Given the description of an element on the screen output the (x, y) to click on. 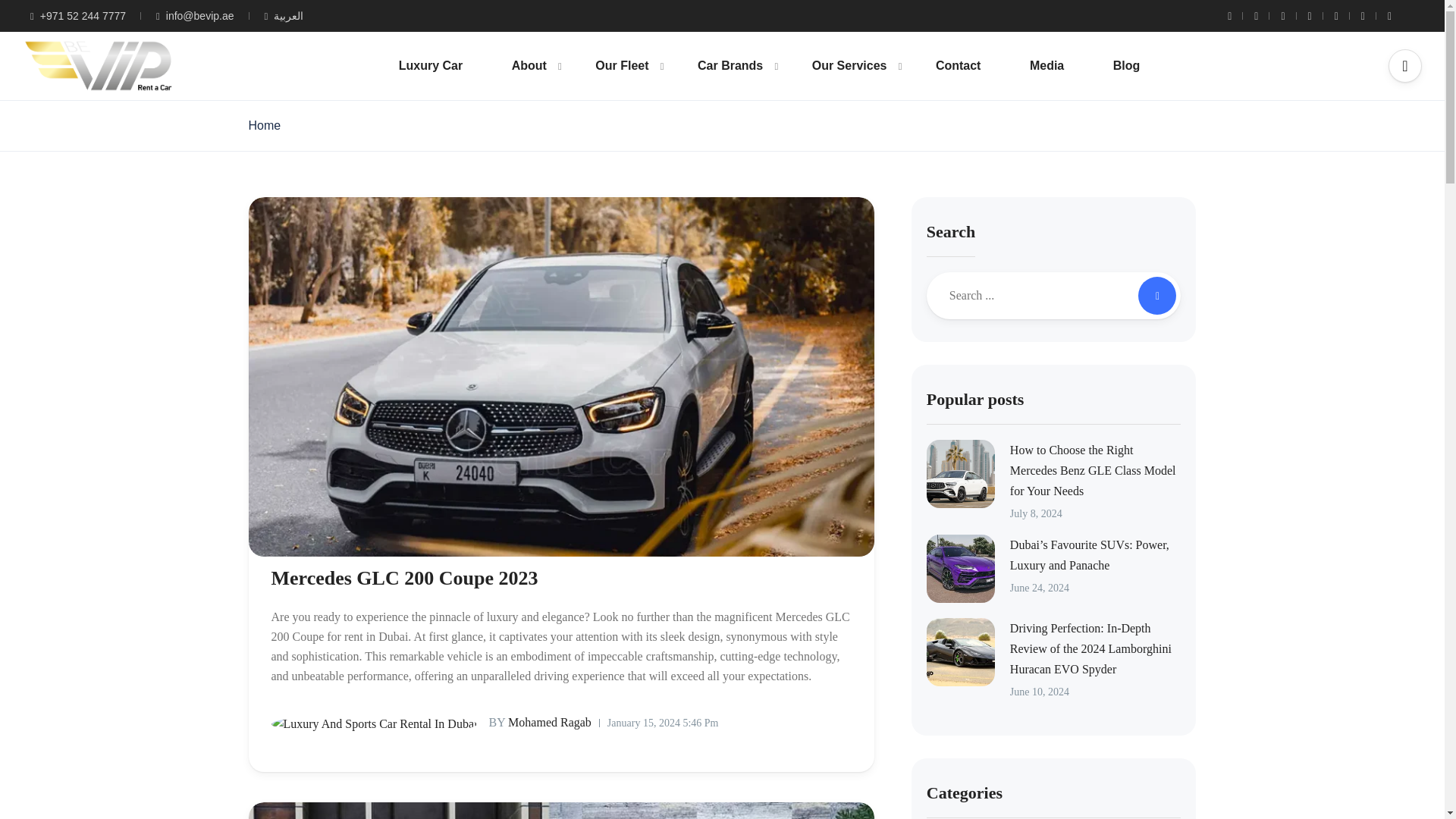
Car Brands (730, 65)
Luxury Car (429, 65)
Our Fleet (621, 65)
About (529, 65)
